Given the description of an element on the screen output the (x, y) to click on. 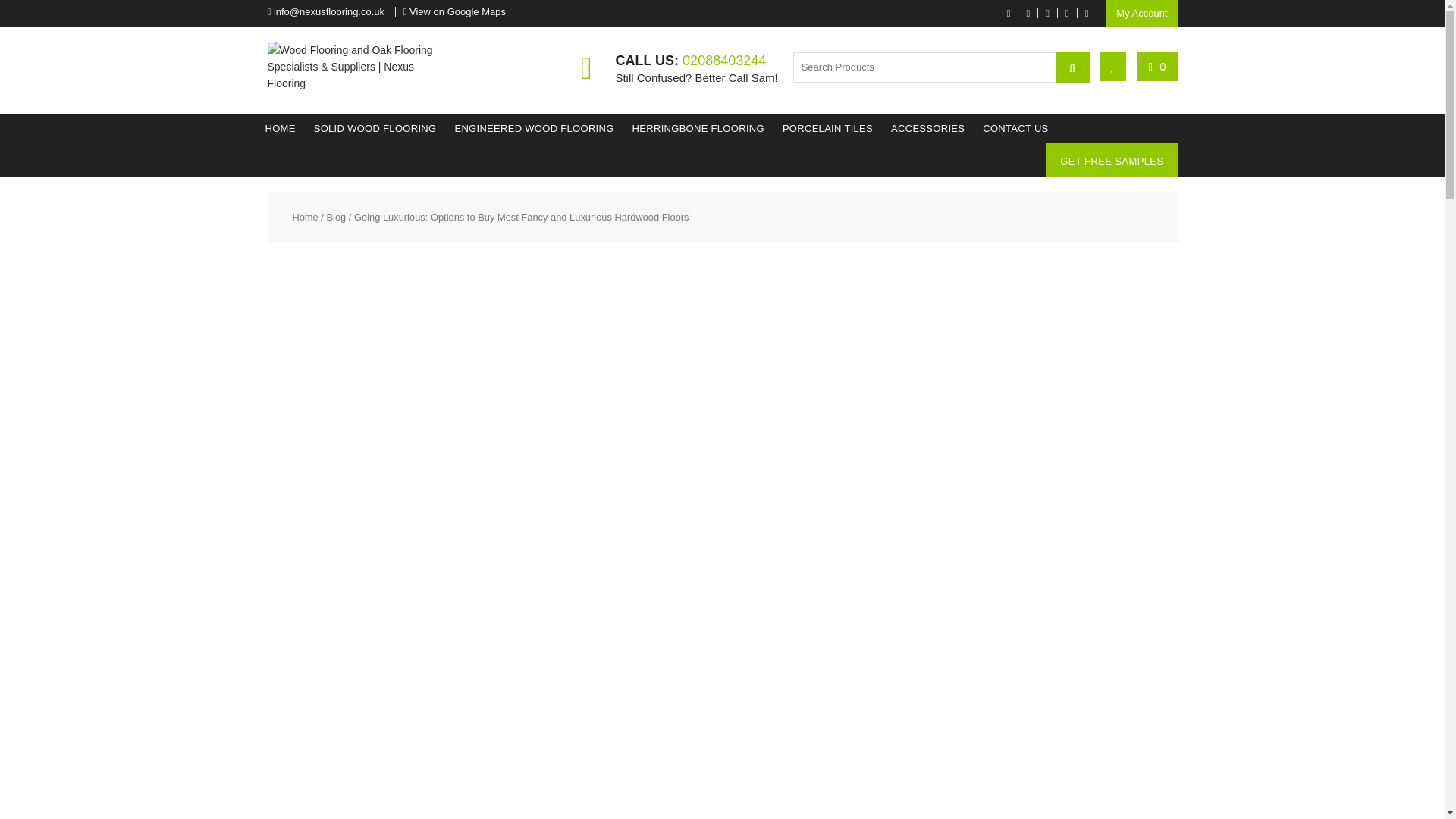
View on Google Maps (457, 11)
ACCESSORIES (928, 128)
ENGINEERED WOOD FLOORING (534, 128)
HOME (280, 128)
Home (304, 216)
CONTACT US (1015, 128)
Blog (336, 216)
My Account (1141, 13)
PORCELAIN TILES (827, 128)
HERRINGBONE FLOORING (698, 128)
0 (1157, 65)
CALL US: 02088403244 (689, 60)
GET FREE SAMPLES (1111, 161)
SOLID WOOD FLOORING (374, 128)
